Given the description of an element on the screen output the (x, y) to click on. 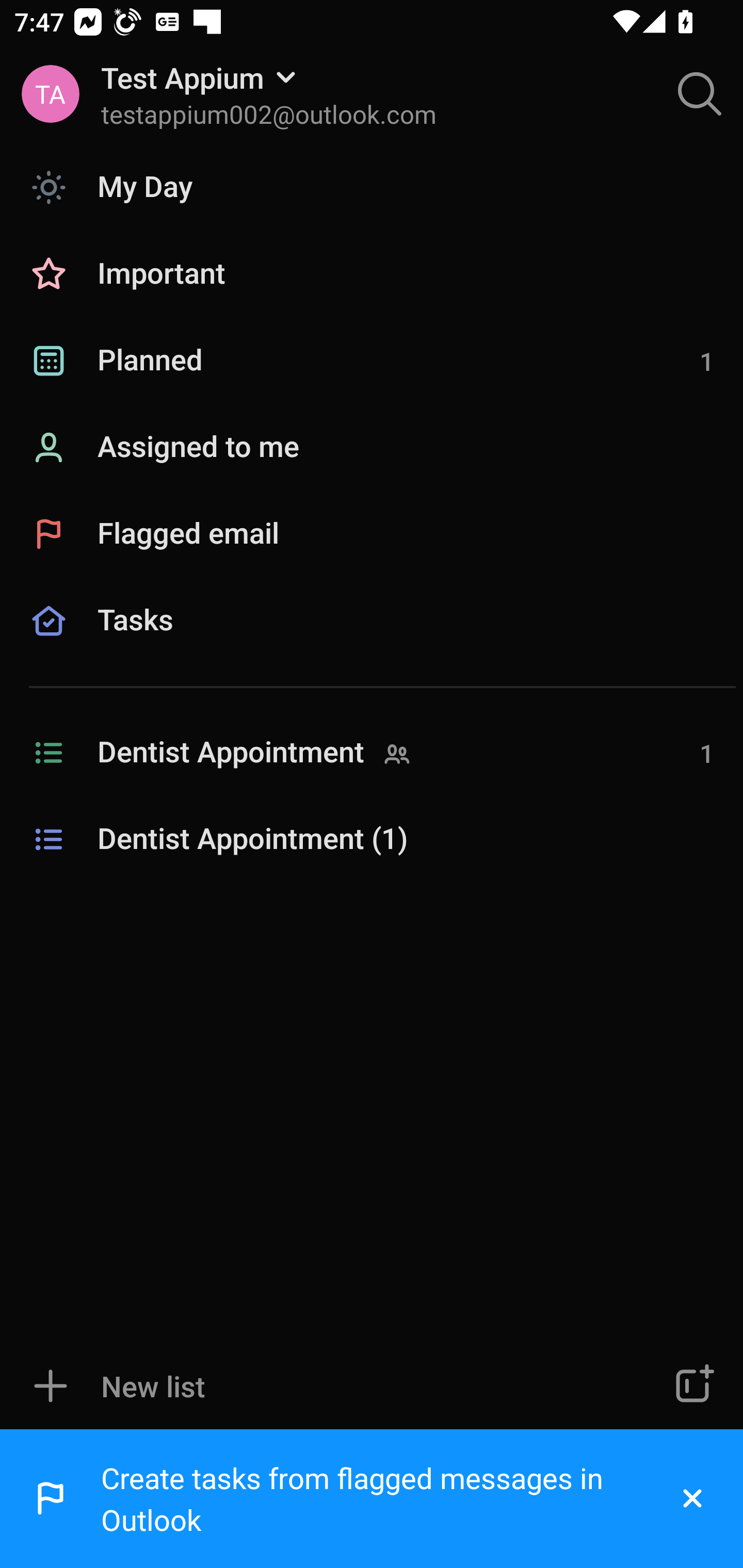
Enter search (699, 93)
My Day, 0 tasks My Day (371, 187)
Important, 0 tasks Important (371, 274)
Planned, 1 tasks Planned 1 (371, 361)
Assigned to me, 0 tasks Assigned to me (371, 447)
Flagged email (371, 533)
Tasks (371, 643)
Dentist Appointment (1) (371, 839)
New list (312, 1386)
Create group (692, 1386)
Close (692, 1498)
